Given the description of an element on the screen output the (x, y) to click on. 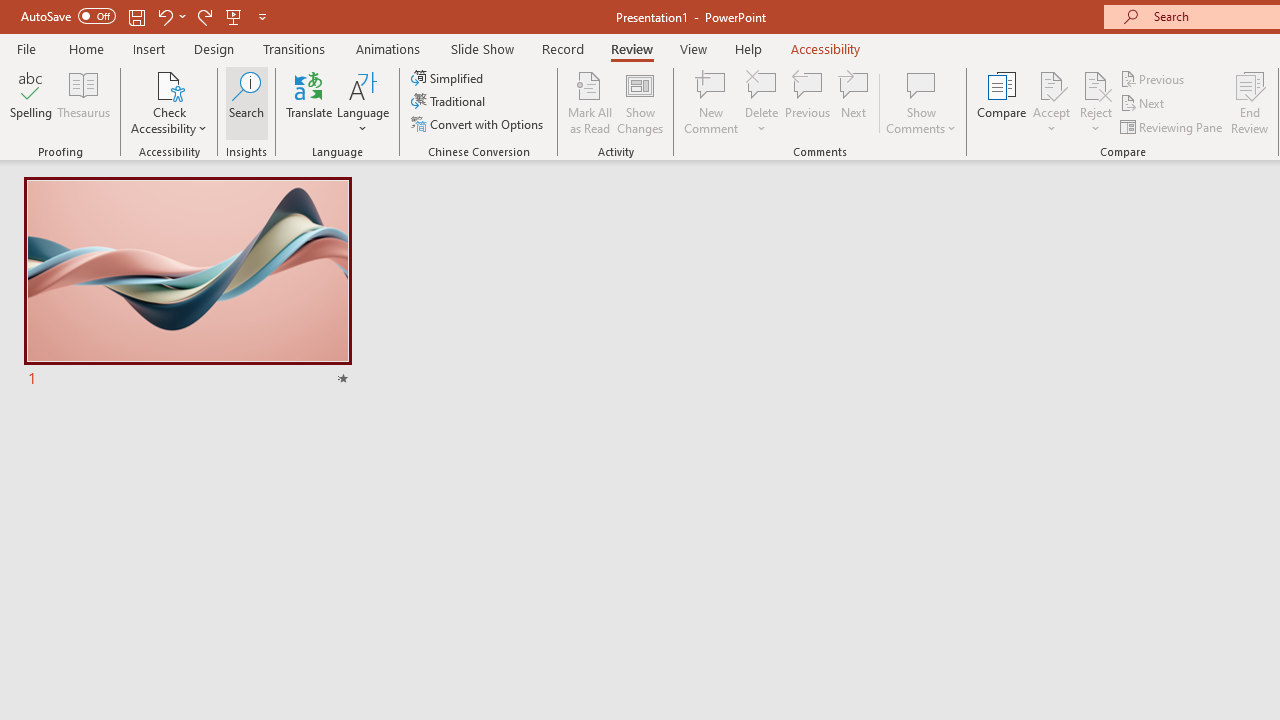
Translate (309, 102)
Show Comments (921, 102)
Check Accessibility (169, 102)
Mark All as Read (589, 102)
Reviewing Pane (1172, 126)
End Review (1249, 102)
Spelling... (31, 102)
